Given the description of an element on the screen output the (x, y) to click on. 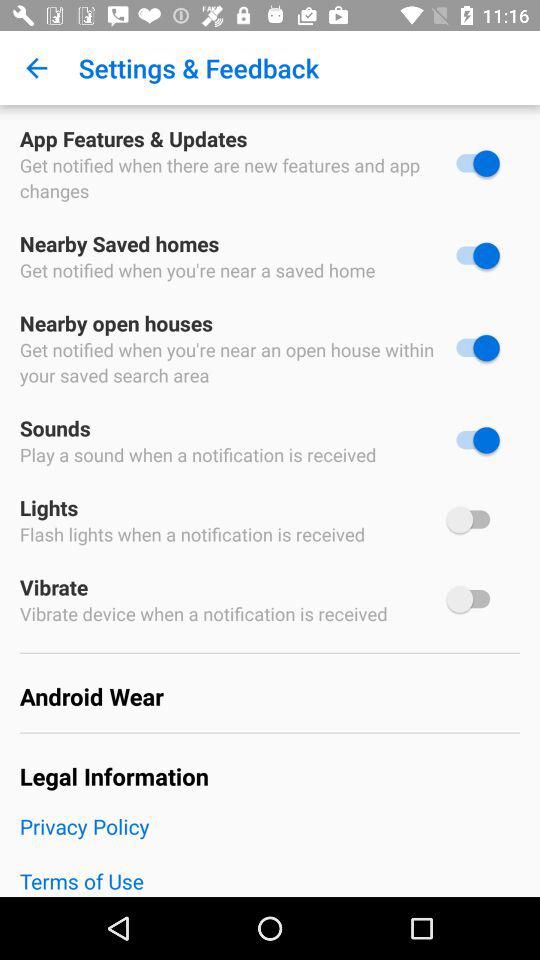
enable vibration (473, 599)
